Given the description of an element on the screen output the (x, y) to click on. 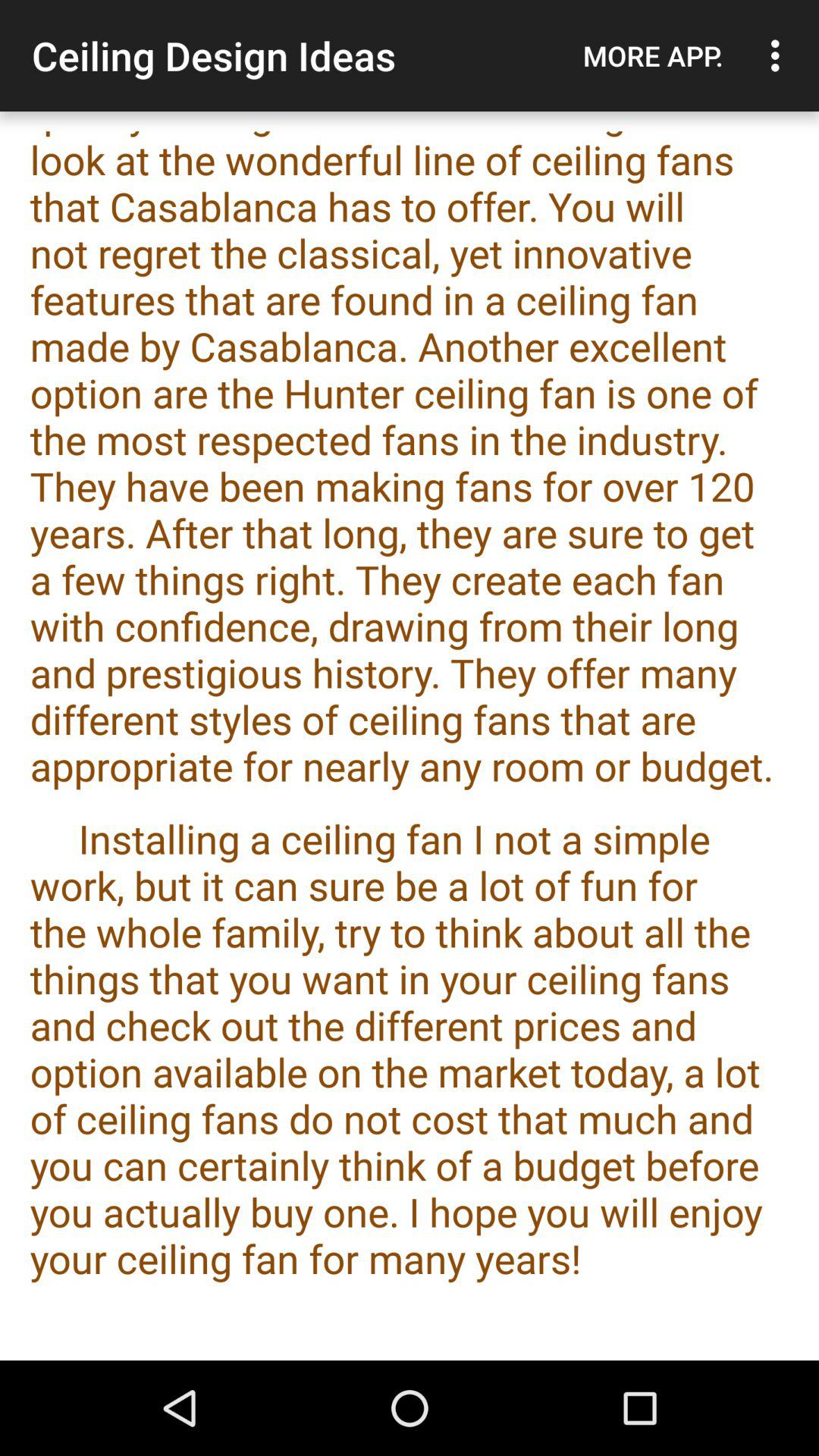
select the icon next to the more app. (779, 55)
